Given the description of an element on the screen output the (x, y) to click on. 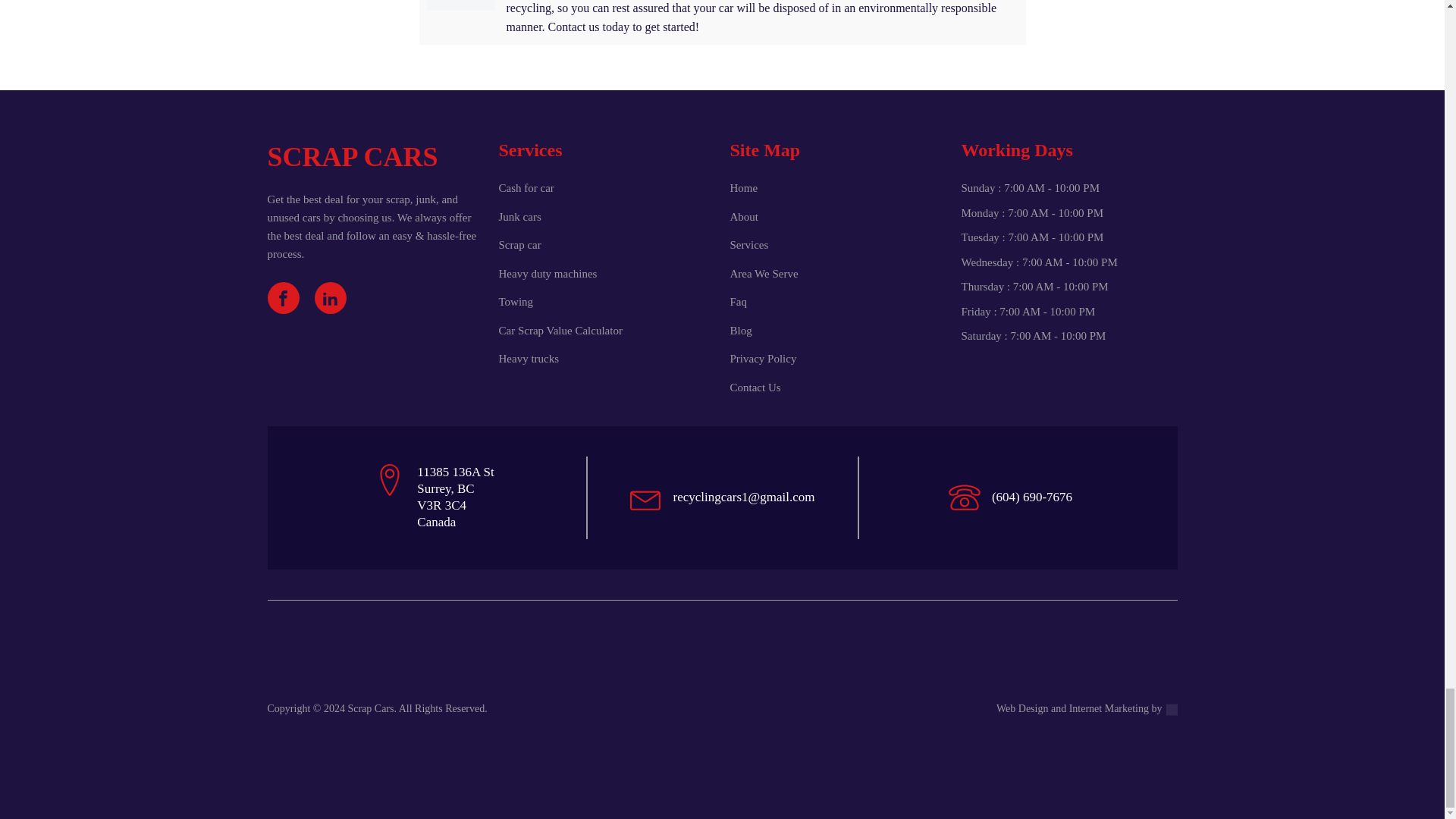
Car Scrap Value Calculator (561, 330)
Contact Us (754, 387)
Home (743, 188)
Services (748, 244)
Cash for car (526, 188)
Junk cars (520, 217)
Faq (737, 302)
Towing (516, 302)
Area We Serve (763, 273)
About (743, 217)
Heavy trucks (529, 358)
Heavy duty machines (547, 273)
Blog (740, 330)
SCRAP CARS (454, 497)
